Given the description of an element on the screen output the (x, y) to click on. 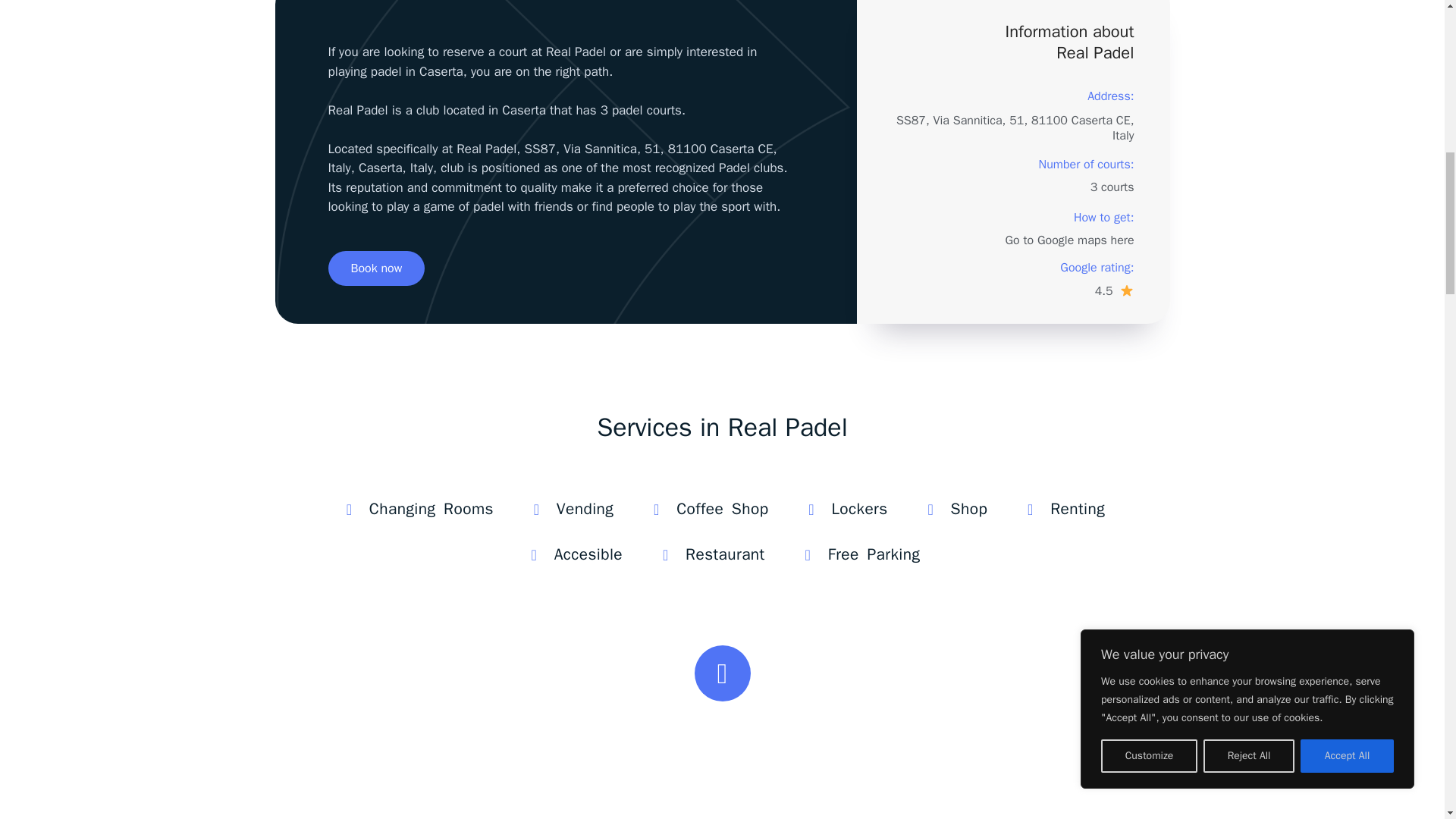
Book now (376, 267)
Go to Google maps here (1070, 240)
